Given the description of an element on the screen output the (x, y) to click on. 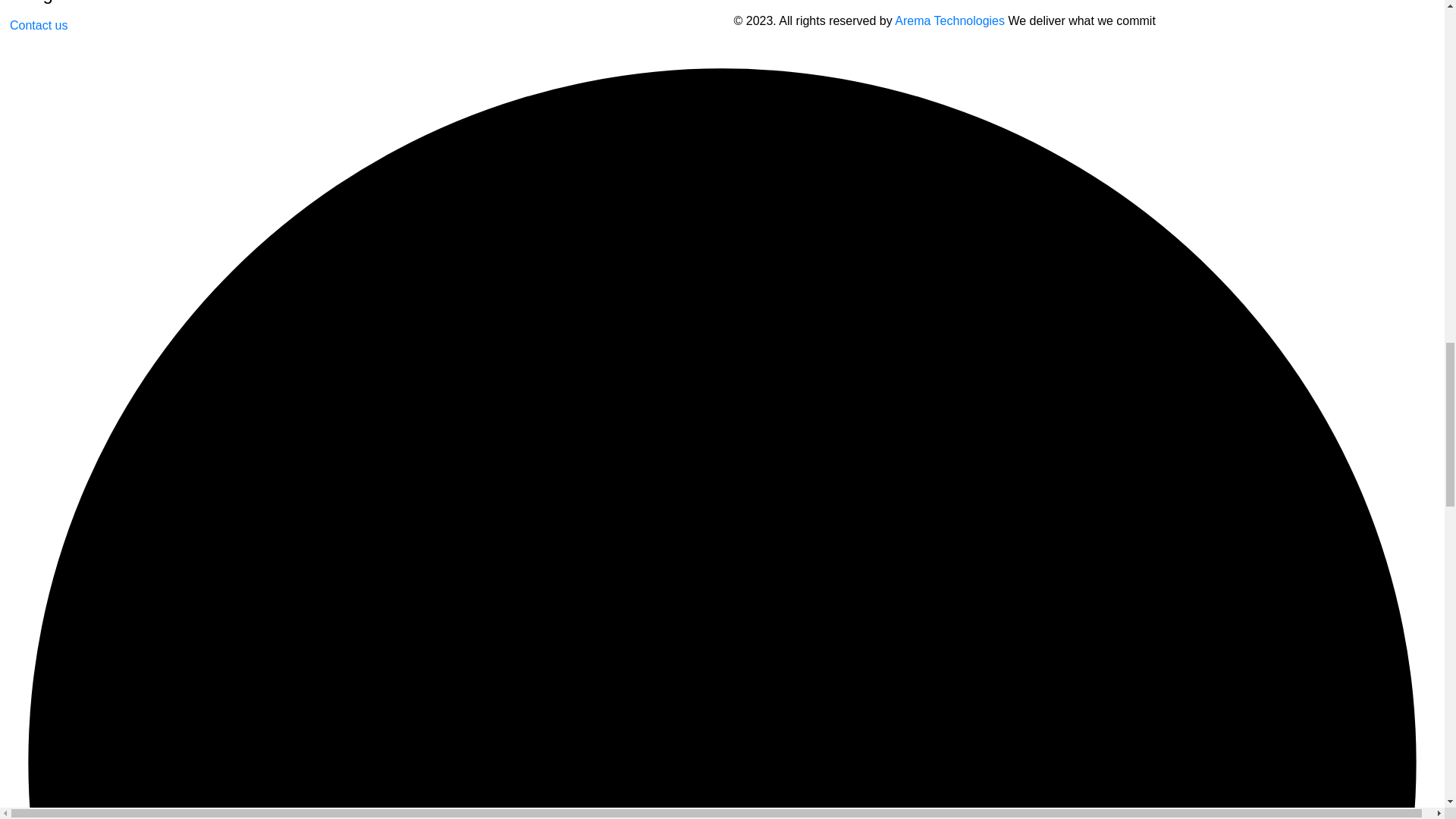
LinkedIn (1155, 0)
Contact us (38, 25)
Arema Technologies (949, 20)
